Given the description of an element on the screen output the (x, y) to click on. 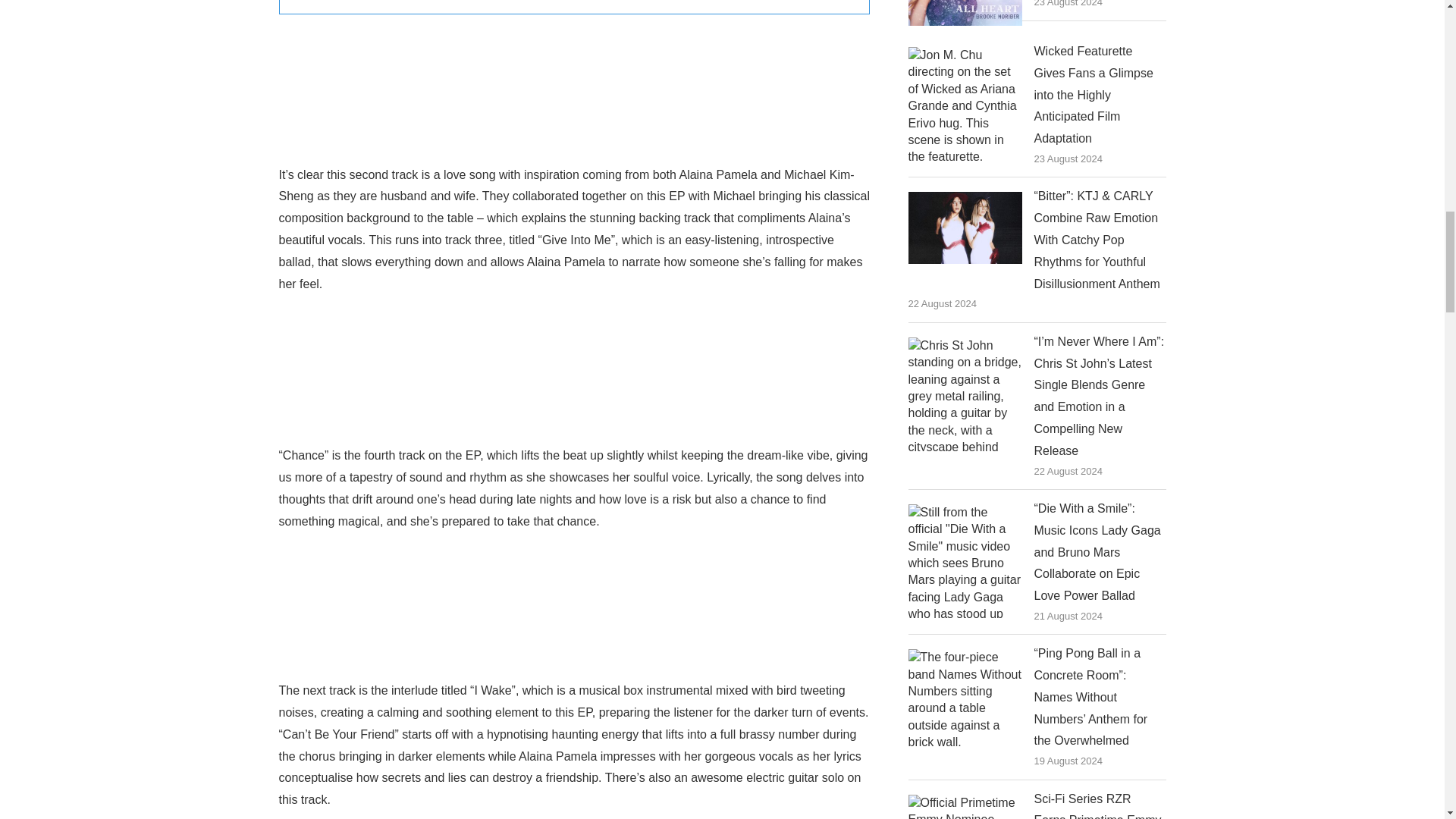
Spotify Embed: Give Into Me (574, 367)
Spotify Embed: Depth Of My Heart (574, 86)
Spotify Embed: Chance (574, 602)
